Given the description of an element on the screen output the (x, y) to click on. 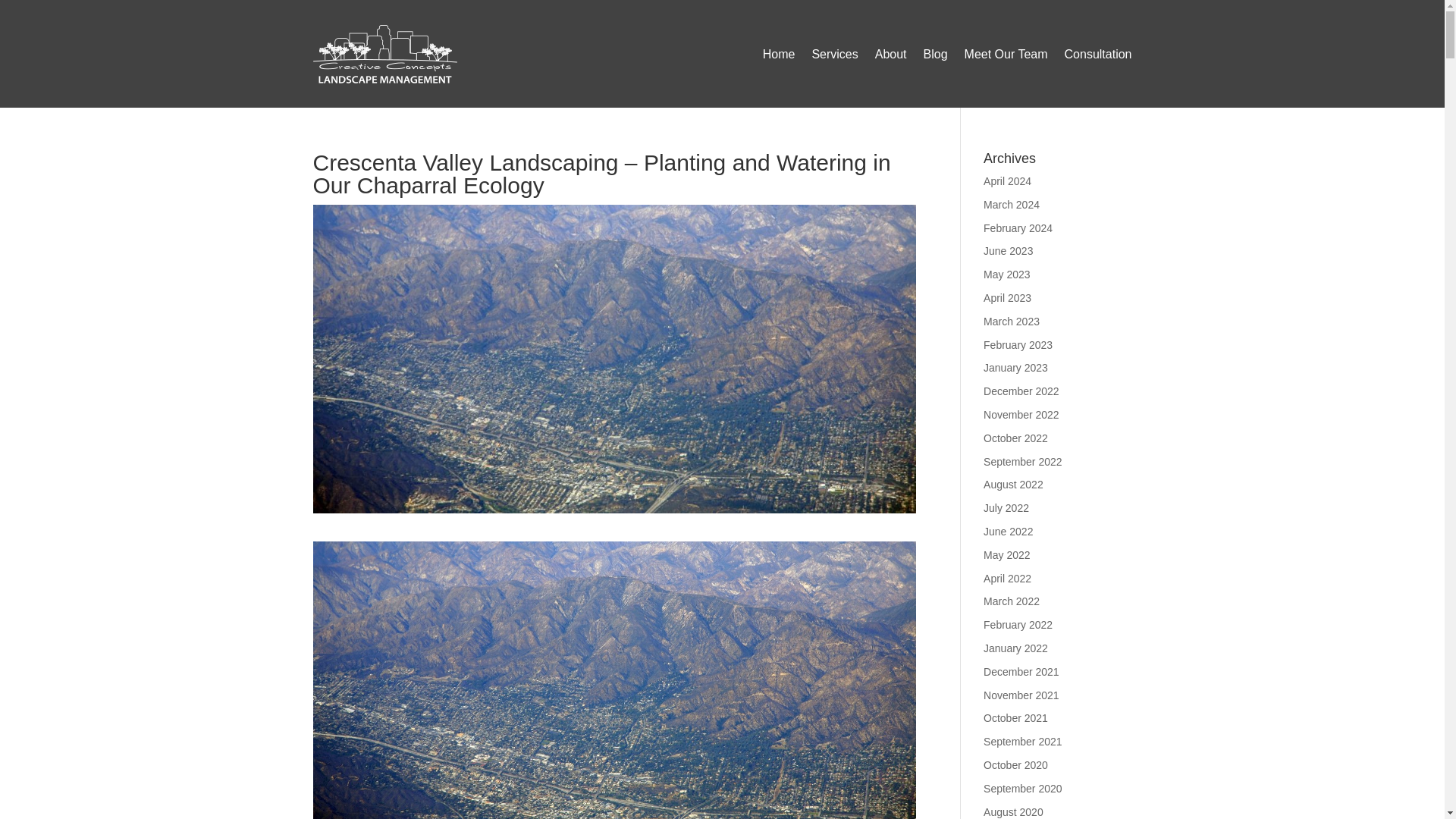
March 2023 (1011, 321)
Meet Our Team (1005, 54)
January 2023 (1016, 367)
June 2023 (1008, 250)
May 2023 (1006, 274)
February 2023 (1018, 345)
April 2024 (1007, 181)
April 2023 (1007, 297)
November 2022 (1021, 414)
Consultation (1098, 54)
February 2024 (1018, 227)
March 2024 (1011, 204)
December 2022 (1021, 390)
